Given the description of an element on the screen output the (x, y) to click on. 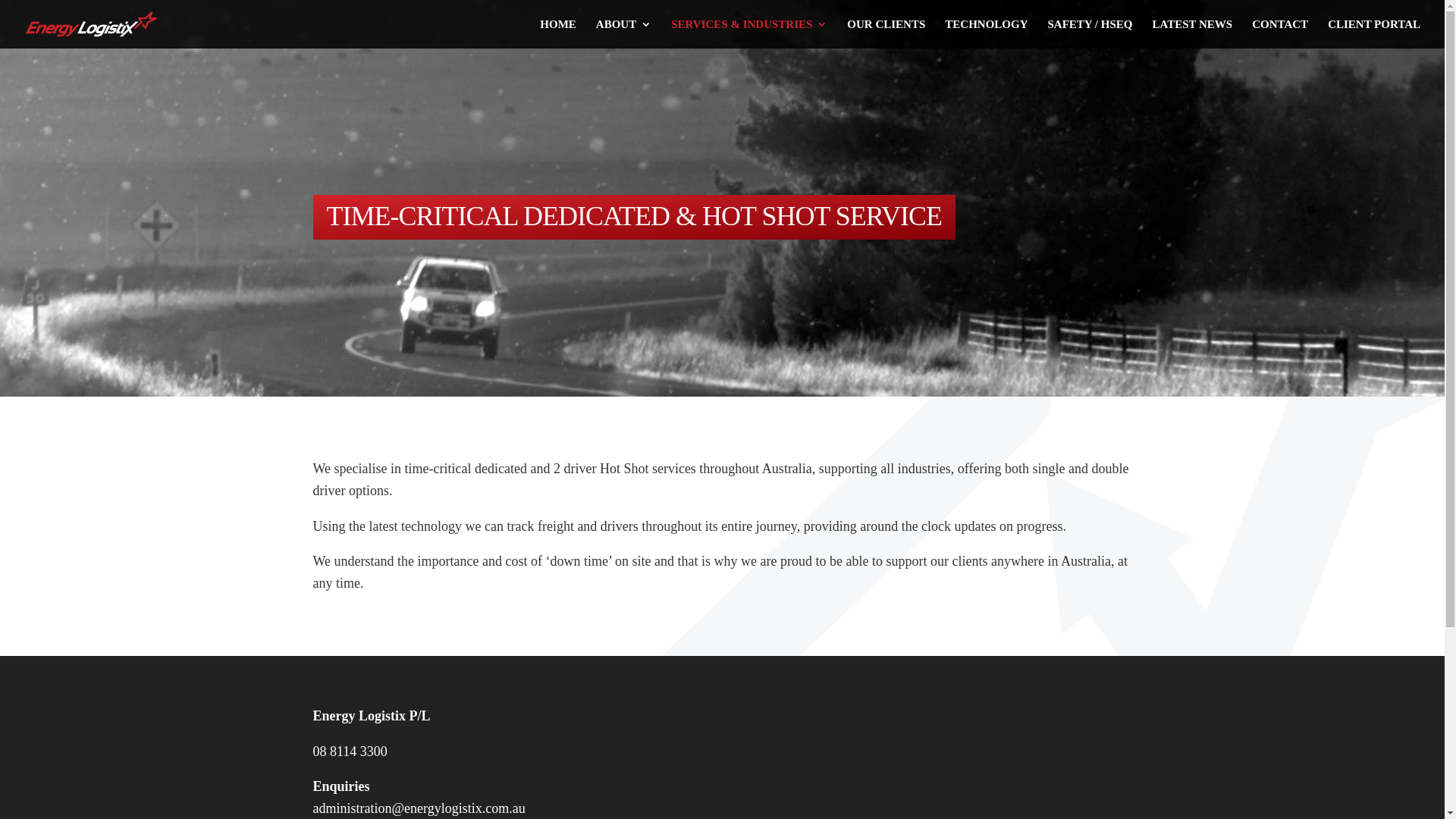
SAFETY / HSEQ Element type: text (1089, 33)
administration@energylogistix.com.au Element type: text (418, 807)
OUR CLIENTS Element type: text (886, 33)
CONTACT Element type: text (1280, 33)
TECHNOLOGY Element type: text (985, 33)
HOME Element type: text (557, 33)
CLIENT PORTAL Element type: text (1373, 33)
SERVICES & INDUSTRIES Element type: text (749, 33)
LATEST NEWS Element type: text (1191, 33)
ABOUT Element type: text (623, 33)
